Given the description of an element on the screen output the (x, y) to click on. 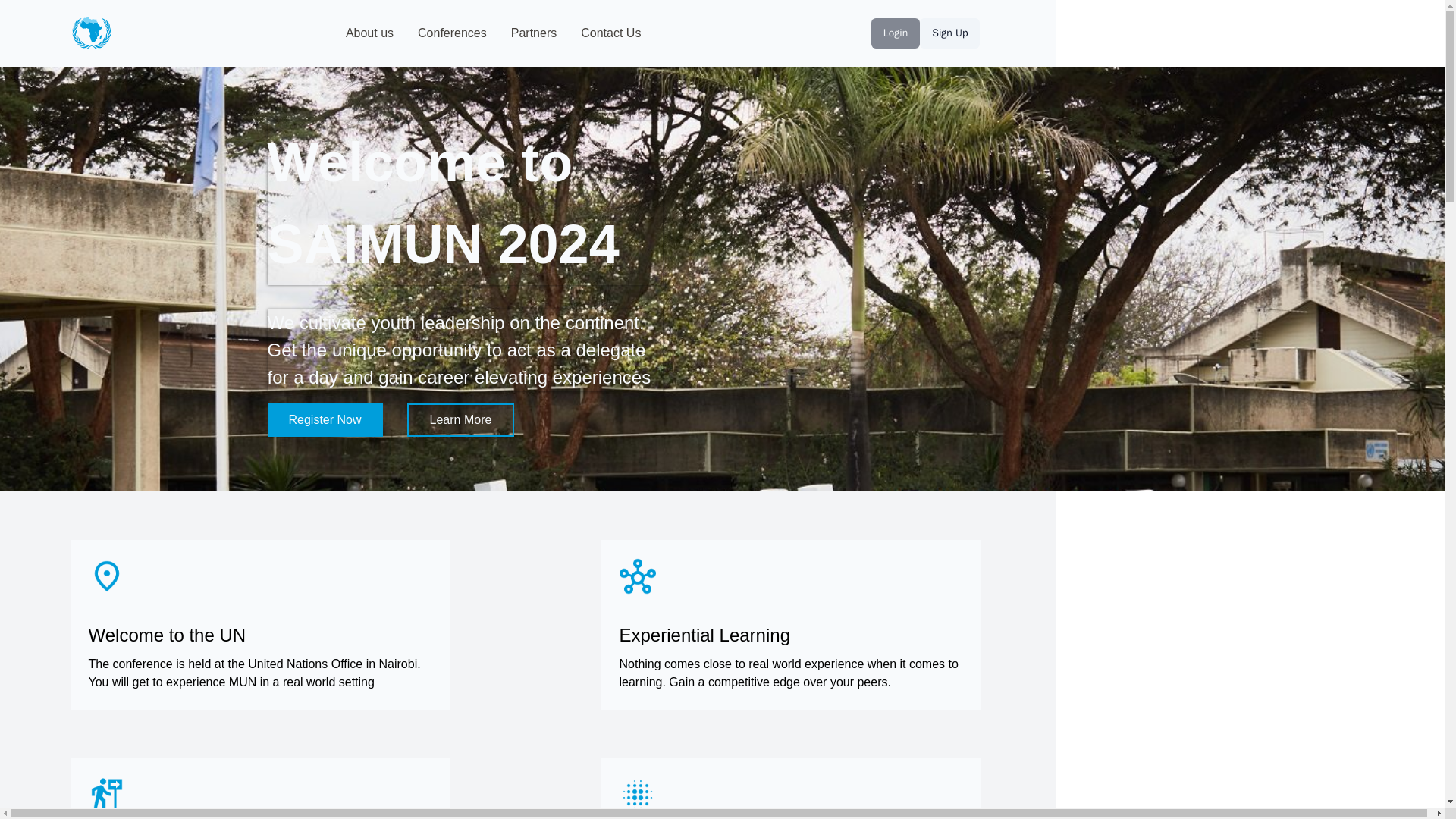
Partners (533, 33)
Learn More (461, 419)
About us (369, 33)
Login (895, 33)
Contact Us (610, 33)
Sign Up (949, 33)
Conferences (451, 33)
